Given the description of an element on the screen output the (x, y) to click on. 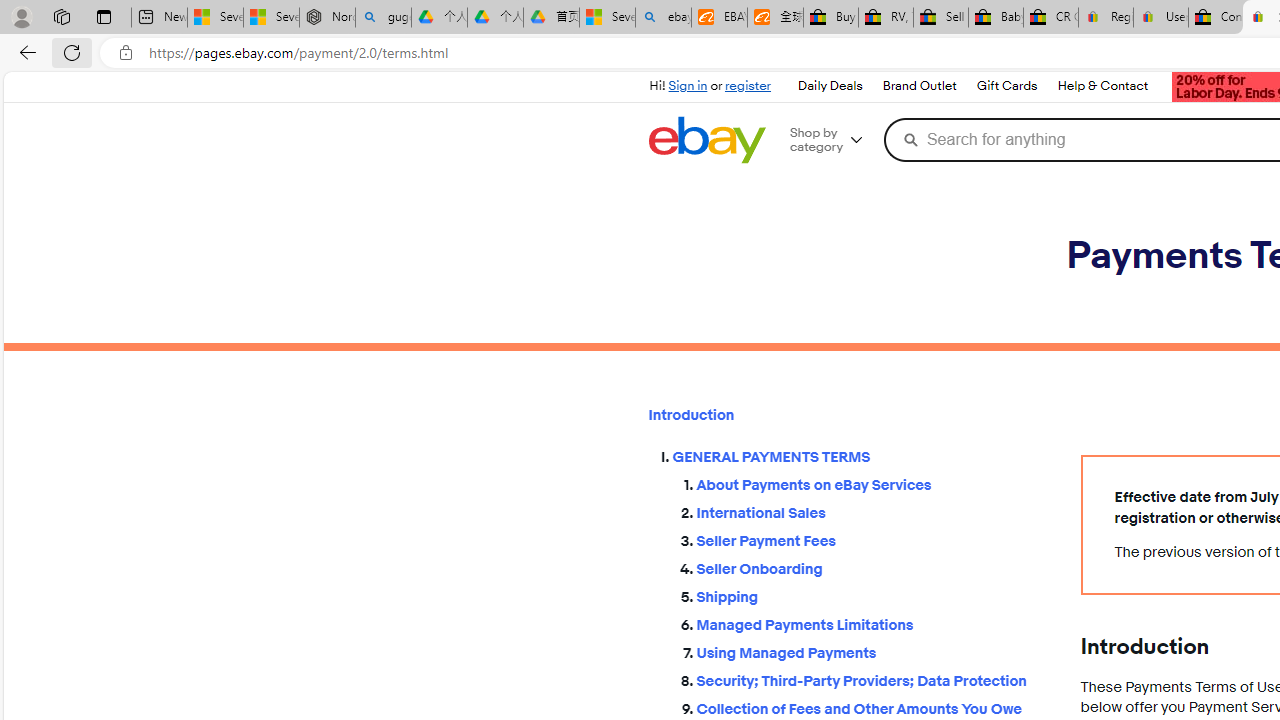
Gift Cards (1006, 85)
Seller Payment Fees (872, 537)
Using Managed Payments (872, 649)
Shipping (872, 592)
Shipping (872, 596)
Seller Payment Fees (872, 541)
About Payments on eBay Services (872, 481)
eBay Home (706, 139)
Register: Create a personal eBay account (1105, 17)
